Given the description of an element on the screen output the (x, y) to click on. 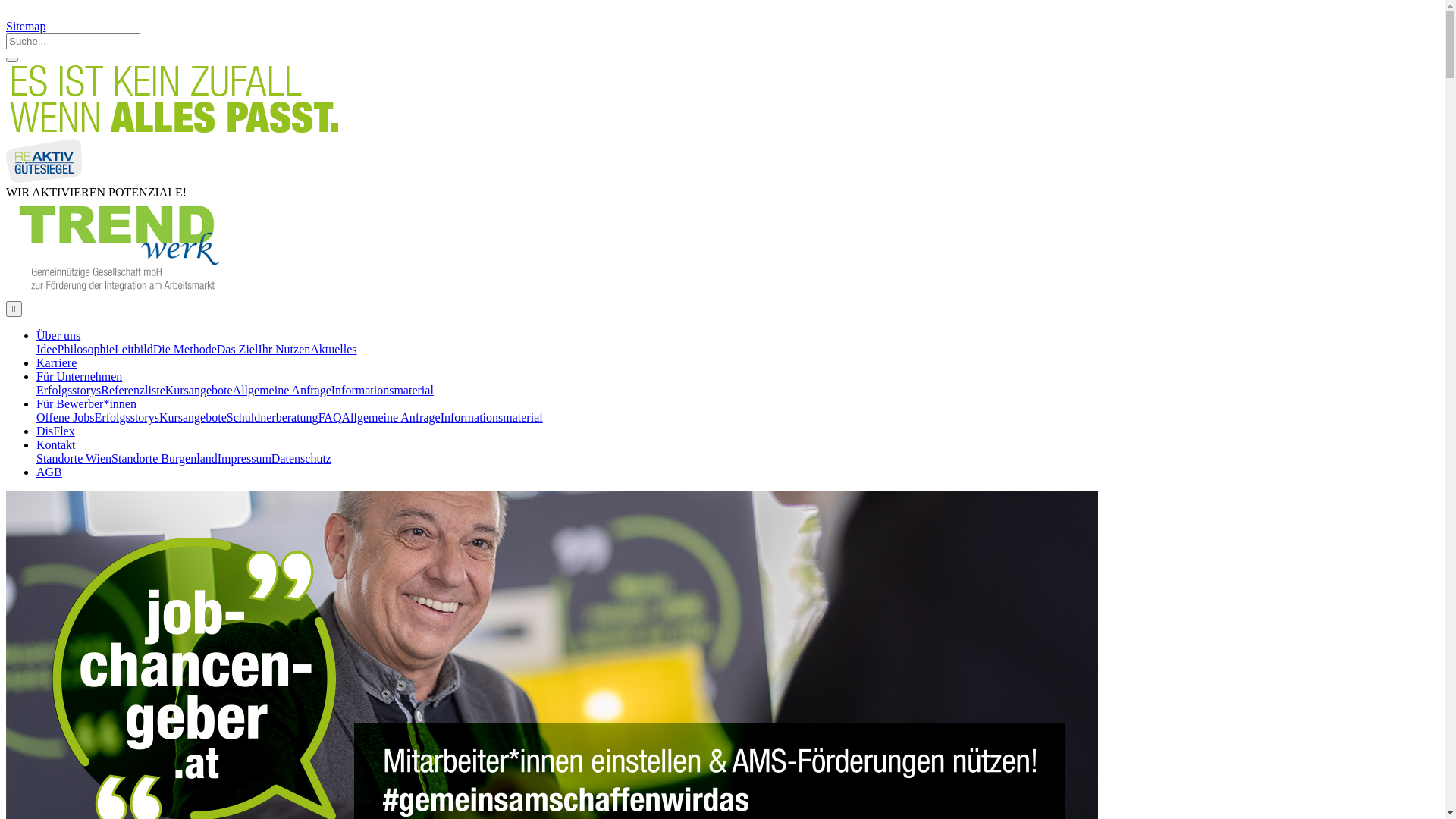
Datenschutz Element type: text (301, 457)
Impressum Element type: text (244, 457)
Das Ziel Element type: text (237, 348)
Standorte Burgenland Element type: text (164, 457)
Karriere Element type: text (56, 362)
Informationsmaterial Element type: text (382, 389)
Standorte Wien Element type: text (73, 457)
Kontakt Element type: text (55, 444)
Aktuelles Element type: text (333, 348)
Erfolgsstorys Element type: text (68, 389)
Allgemeine Anfrage Element type: text (390, 417)
Sitemap Element type: text (25, 25)
Informationsmaterial Element type: text (491, 417)
Die Methode Element type: text (184, 348)
Offene Jobs Element type: text (65, 417)
Idee Element type: text (46, 348)
Allgemeine Anfrage Element type: text (281, 389)
Ihr Nutzen Element type: text (283, 348)
DisFlex Element type: text (55, 430)
Kursangebote Element type: text (198, 389)
Referenzliste Element type: text (132, 389)
Philosophie Element type: text (86, 348)
AGB Element type: text (49, 471)
Erfolgsstorys Element type: text (126, 417)
Kursangebote Element type: text (192, 417)
FAQ Element type: text (330, 417)
Leitbild Element type: text (133, 348)
Schuldnerberatung Element type: text (272, 417)
